Given the description of an element on the screen output the (x, y) to click on. 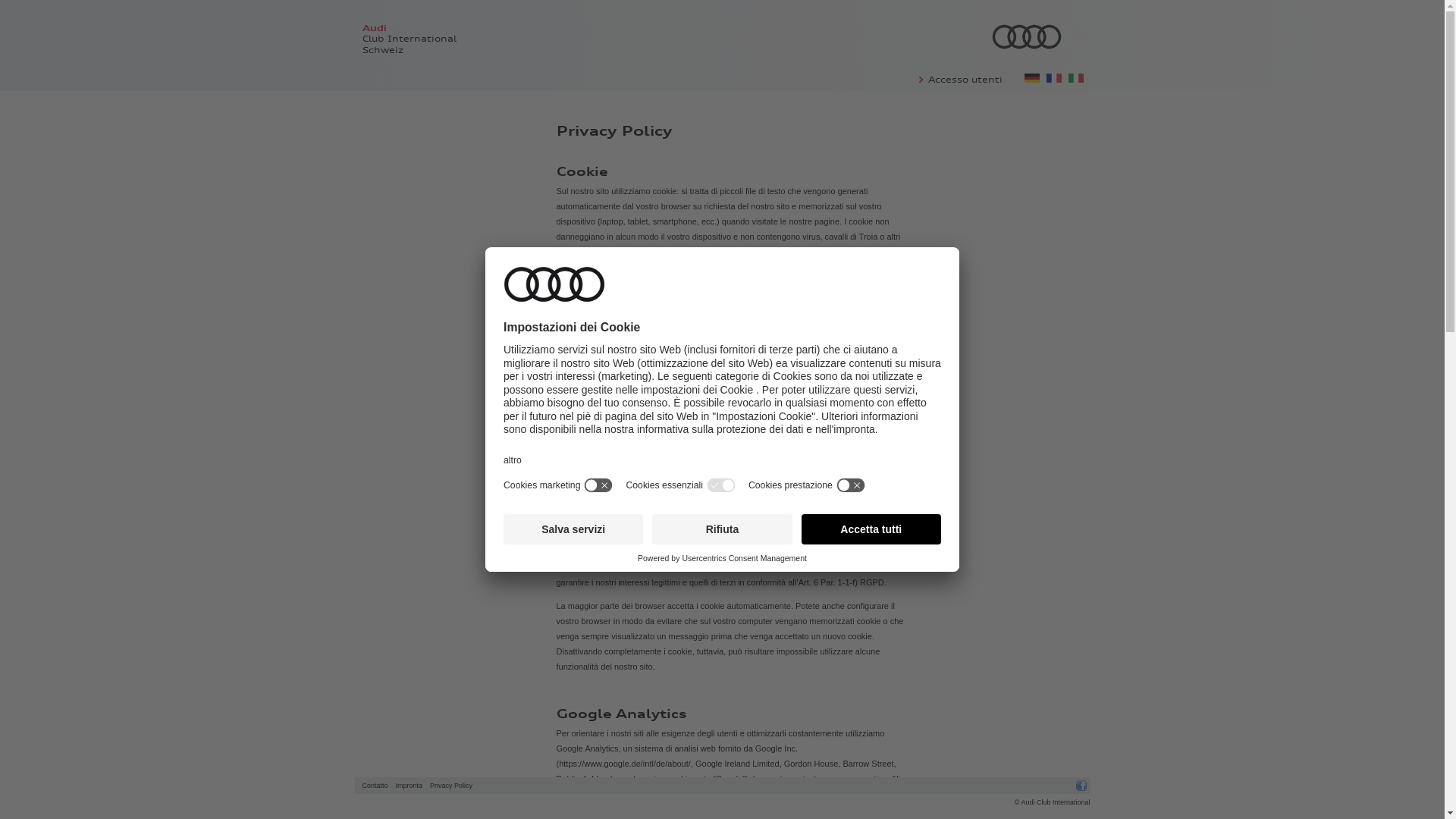
https://www.google.de/intl/de/about/ Element type: text (624, 763)
Impronta Element type: text (409, 785)
Privacy Policy Element type: text (450, 785)
Facebook Element type: text (1080, 785)
Accesso utenti Element type: text (964, 79)
Contatto Element type: text (375, 785)
